Given the description of an element on the screen output the (x, y) to click on. 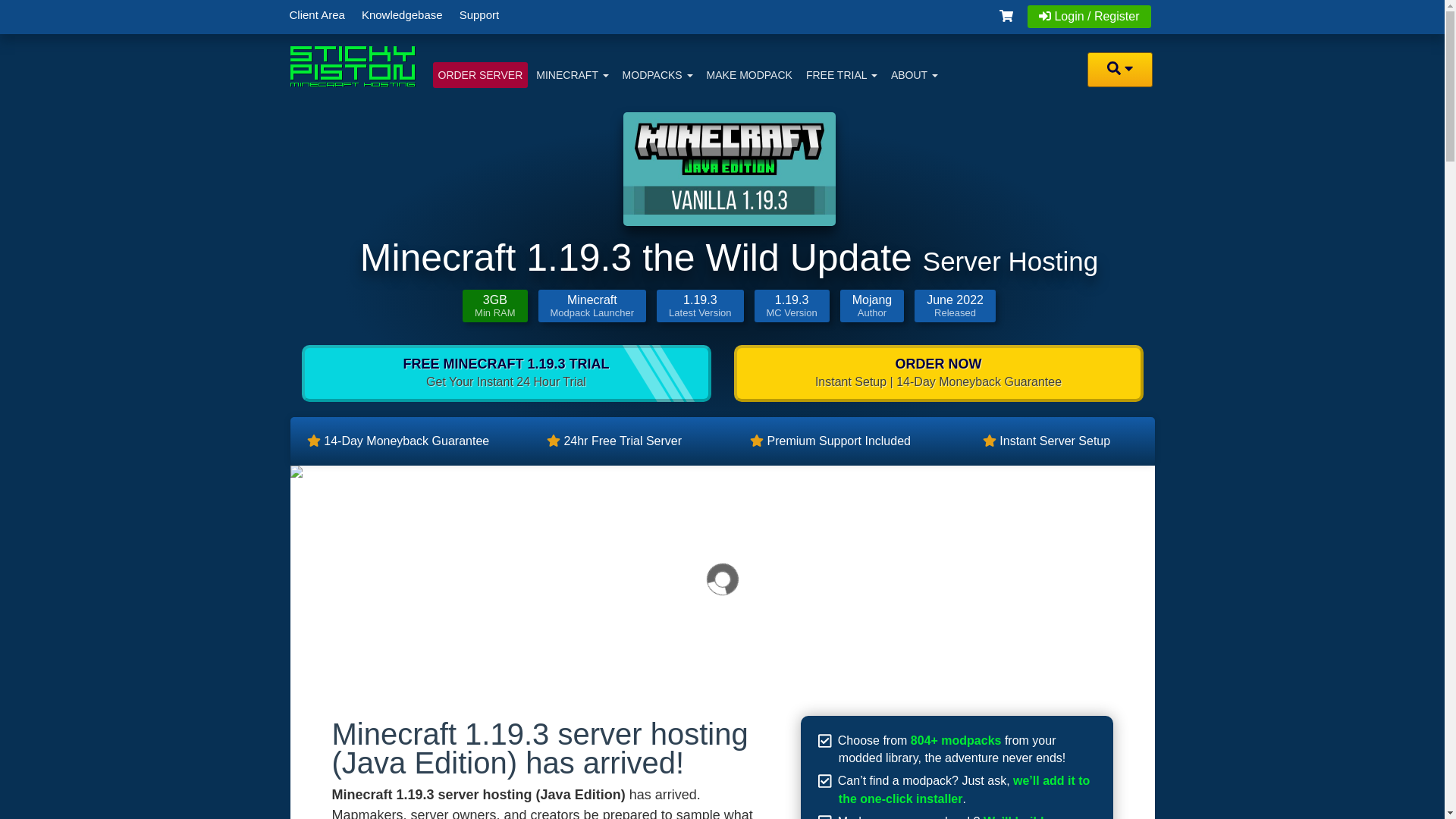
To play this server you will need the Minecraft Launcher (592, 305)
Support (479, 14)
Minecraft Hosting (571, 74)
Get your free Minecraft trial (506, 372)
ORDER SERVER (479, 74)
MODPACKS (657, 74)
Host Minecraft Server Now (479, 74)
StickyPiston Minecraft Server Hosting (351, 65)
Knowledgebase (402, 14)
Free 24hr Server Trial (841, 74)
MINECRAFT (571, 74)
Client Area (316, 14)
Make a Modded Minecraft Server (749, 74)
